Given the description of an element on the screen output the (x, y) to click on. 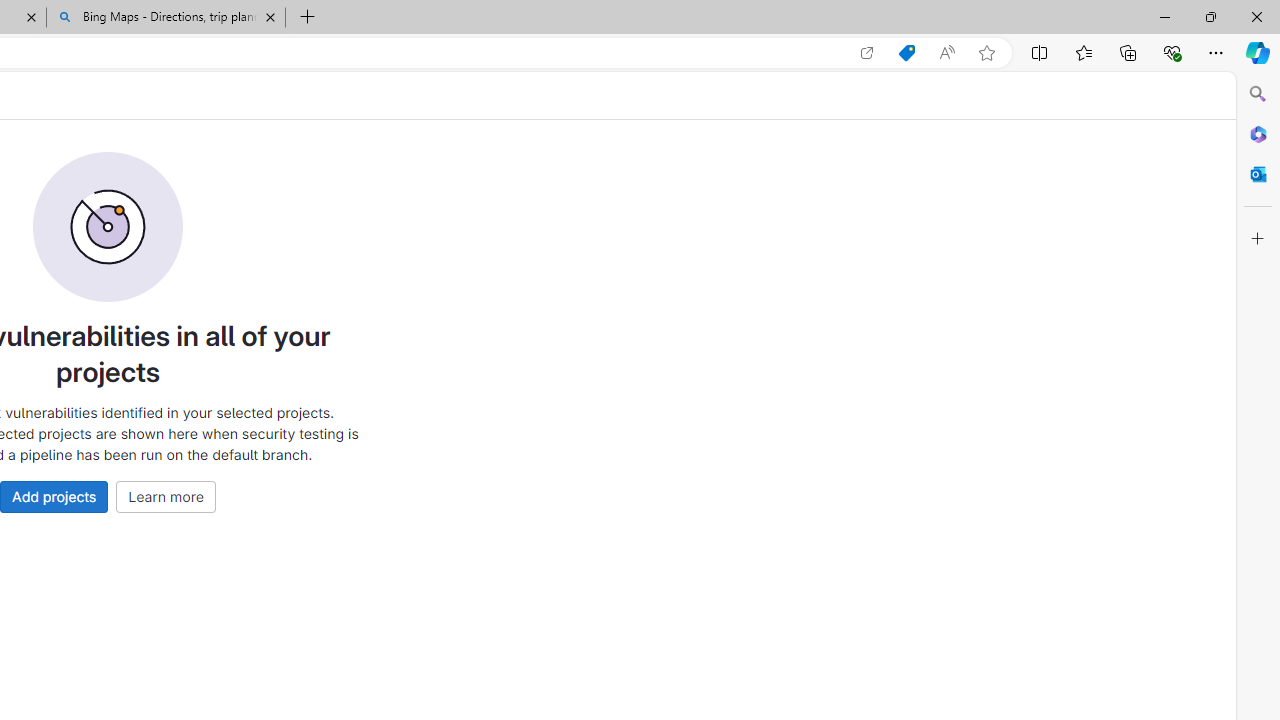
Copilot (Ctrl+Shift+.) (1258, 52)
Restore (1210, 16)
Microsoft 365 (1258, 133)
Shopping in Microsoft Edge (906, 53)
Minimize (1164, 16)
Learn more (166, 496)
Settings and more (Alt+F) (1215, 52)
